Given the description of an element on the screen output the (x, y) to click on. 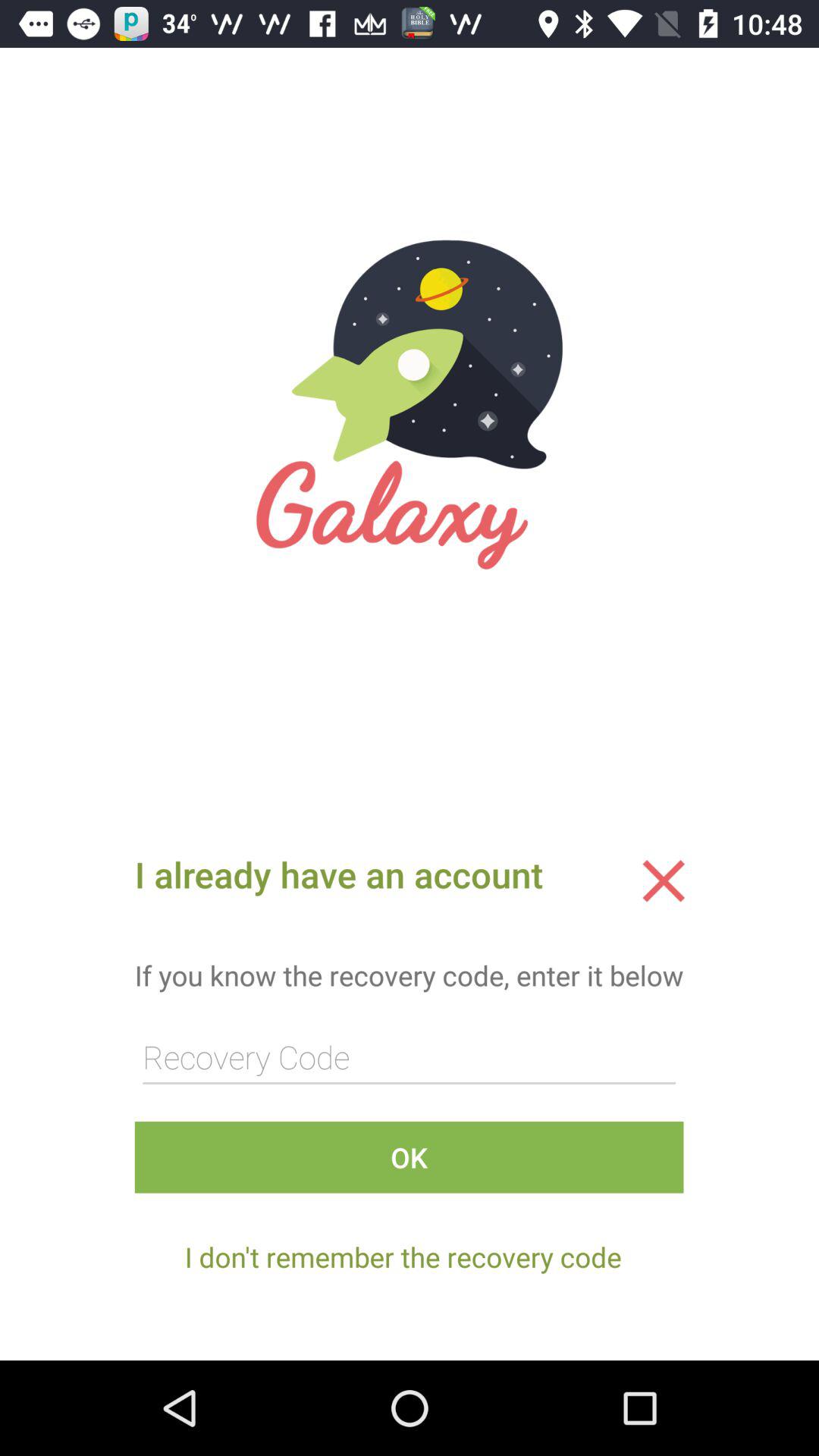
cancel option (663, 880)
